Given the description of an element on the screen output the (x, y) to click on. 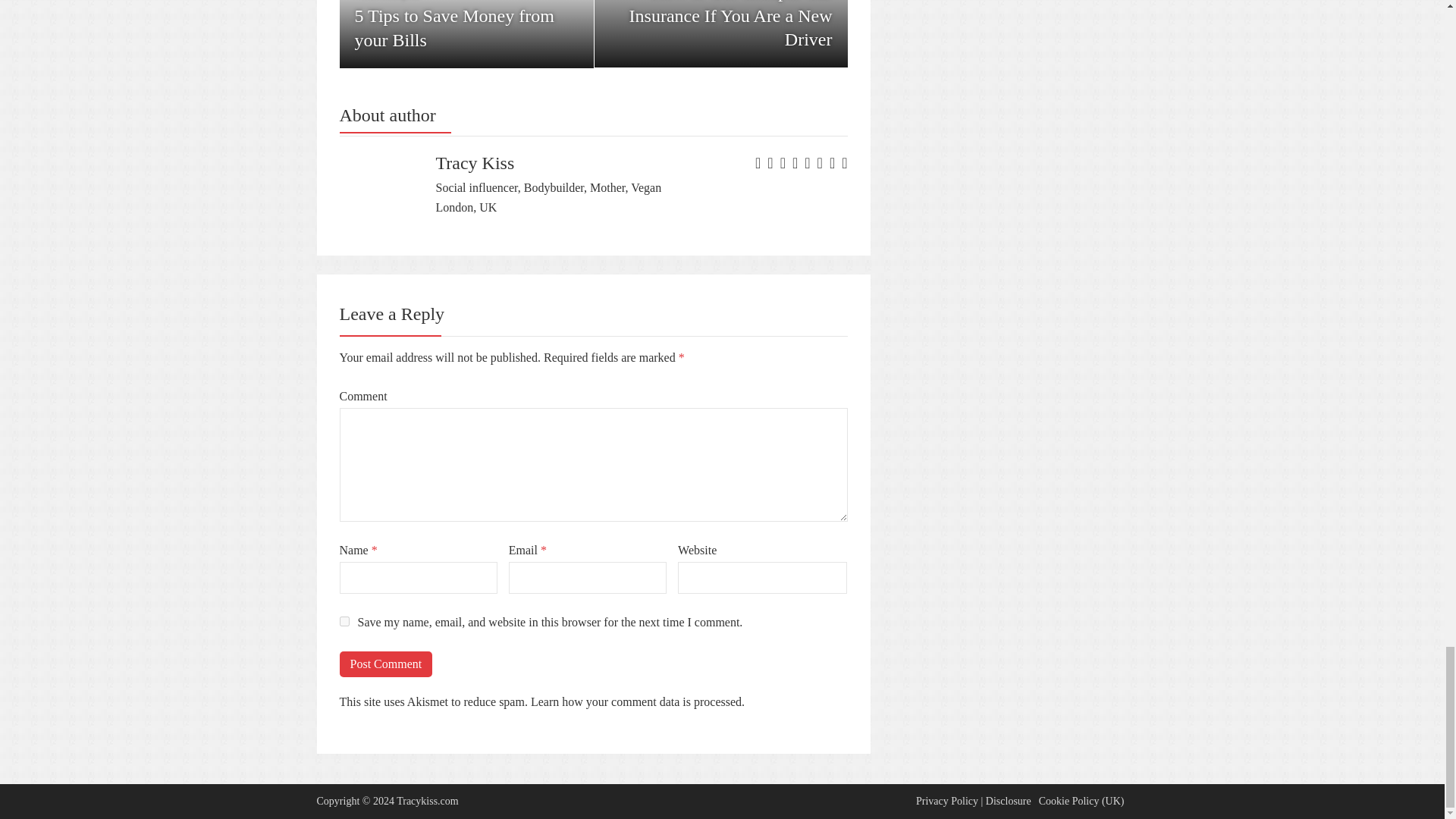
Post Comment (385, 664)
yes (344, 621)
